Given the description of an element on the screen output the (x, y) to click on. 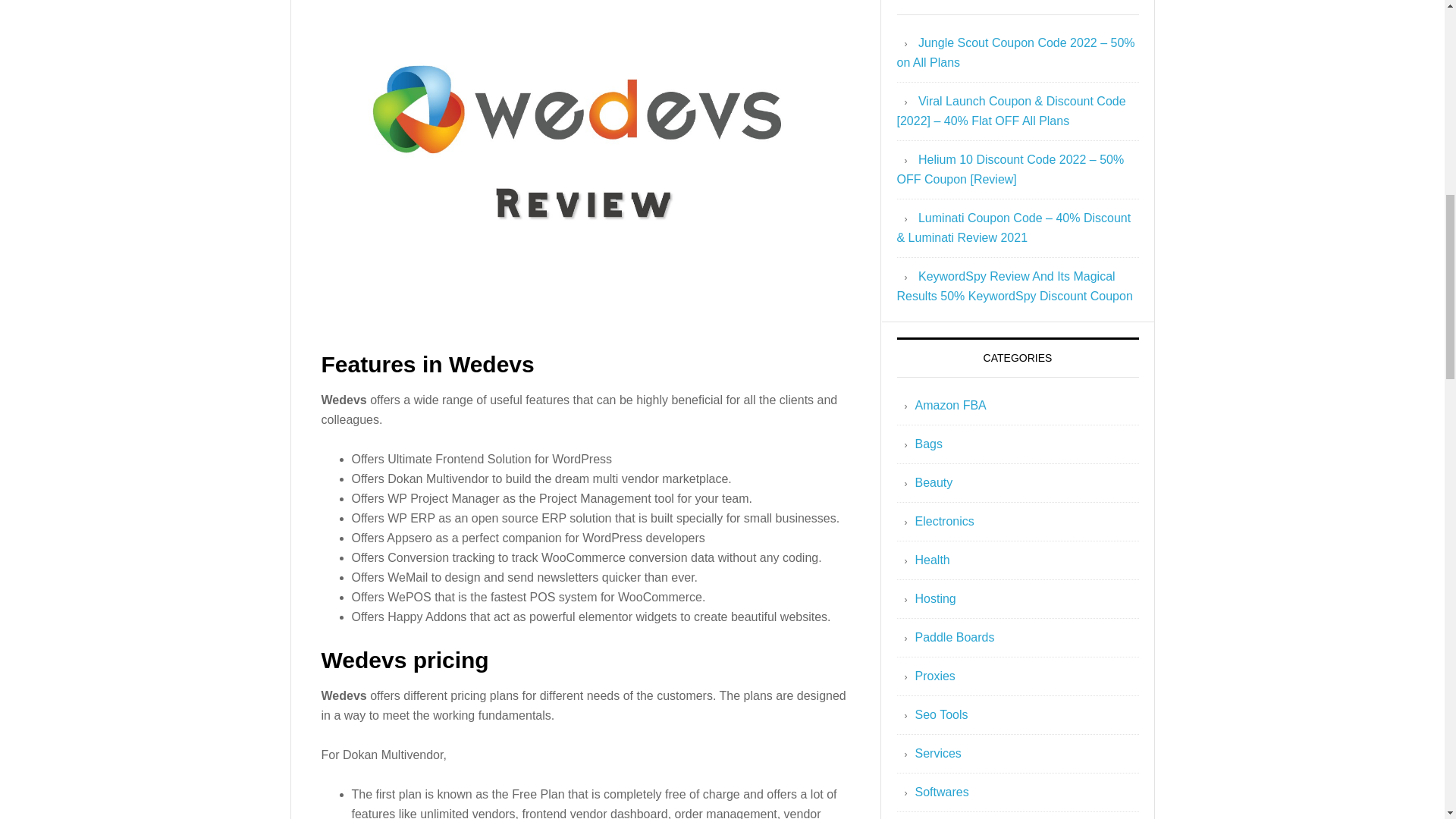
Services (937, 753)
Electronics (944, 521)
Seo Tools (941, 714)
Health (931, 559)
Amazon FBA (949, 404)
Softwares (941, 791)
Proxies (934, 675)
Paddle Boards (954, 636)
Beauty (933, 481)
Hosting (934, 598)
